Given the description of an element on the screen output the (x, y) to click on. 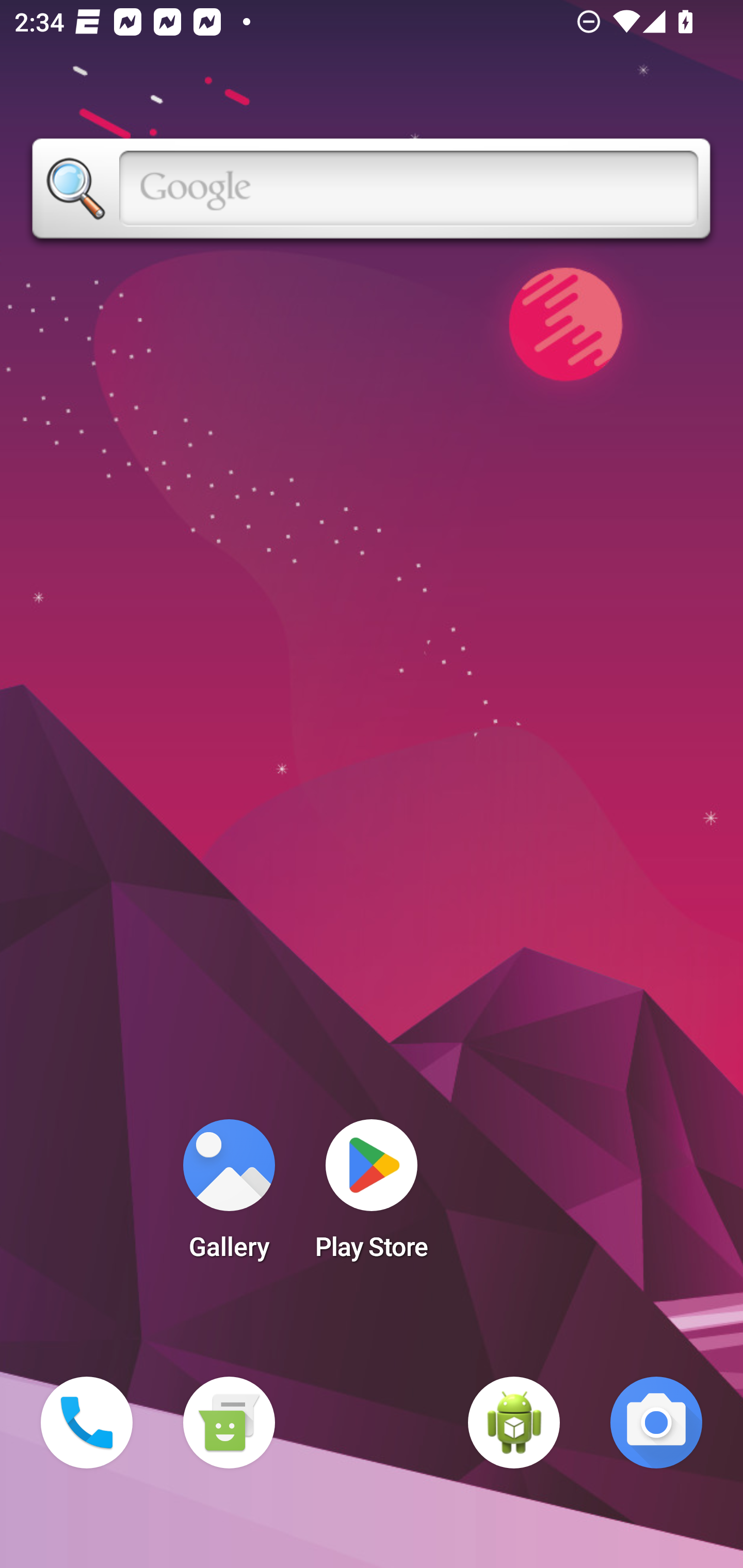
Gallery (228, 1195)
Play Store (371, 1195)
Phone (86, 1422)
Messaging (228, 1422)
WebView Browser Tester (513, 1422)
Camera (656, 1422)
